Given the description of an element on the screen output the (x, y) to click on. 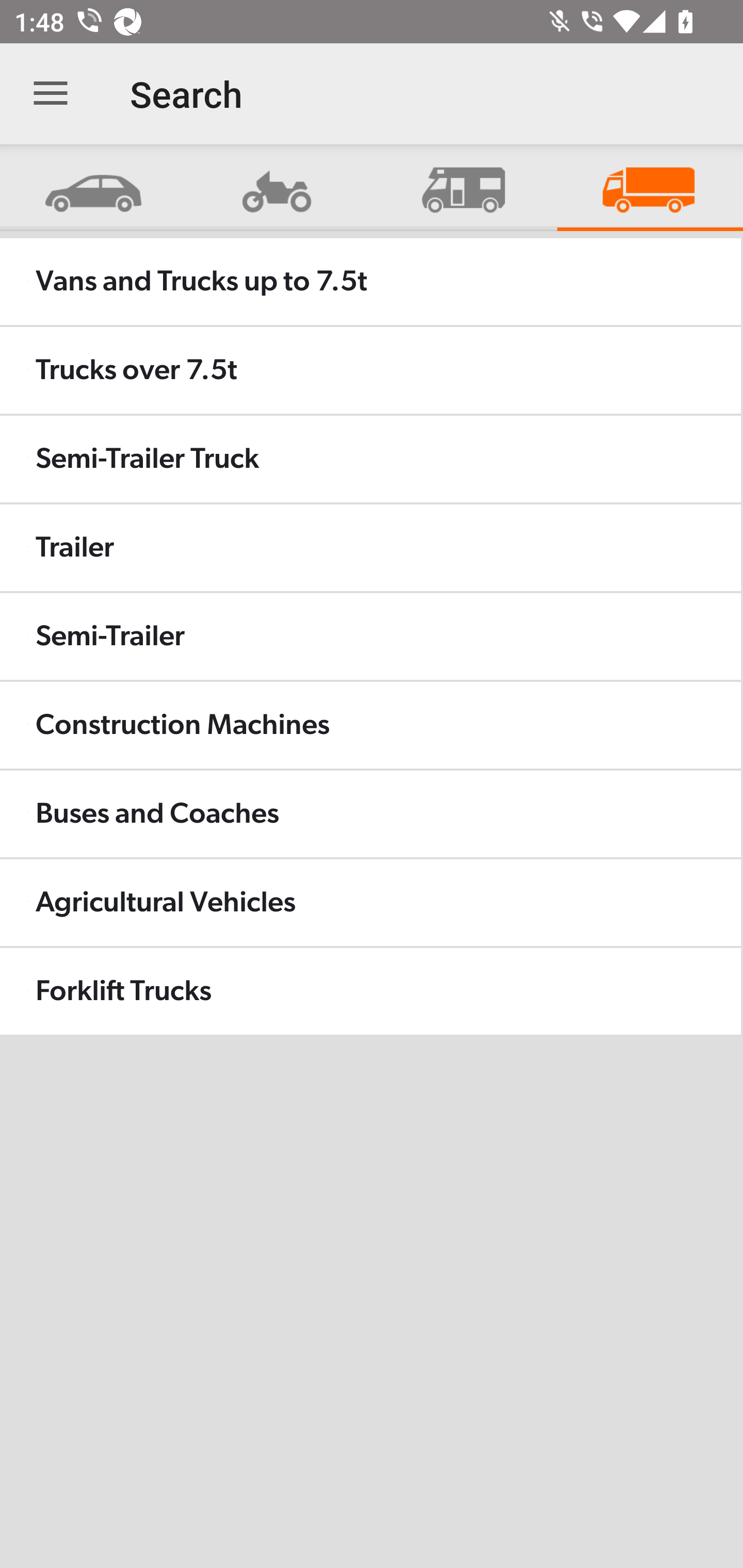
Open navigation bar (50, 93)
Vans and Trucks up to 7.5t (370, 281)
Trucks over 7.5t (370, 370)
Semi-Trailer Truck (370, 458)
Trailer (370, 547)
Semi-Trailer (370, 636)
Construction Machines (370, 725)
Buses and Coaches (370, 813)
Agricultural Vehicles (370, 902)
Forklift Trucks (370, 991)
